Given the description of an element on the screen output the (x, y) to click on. 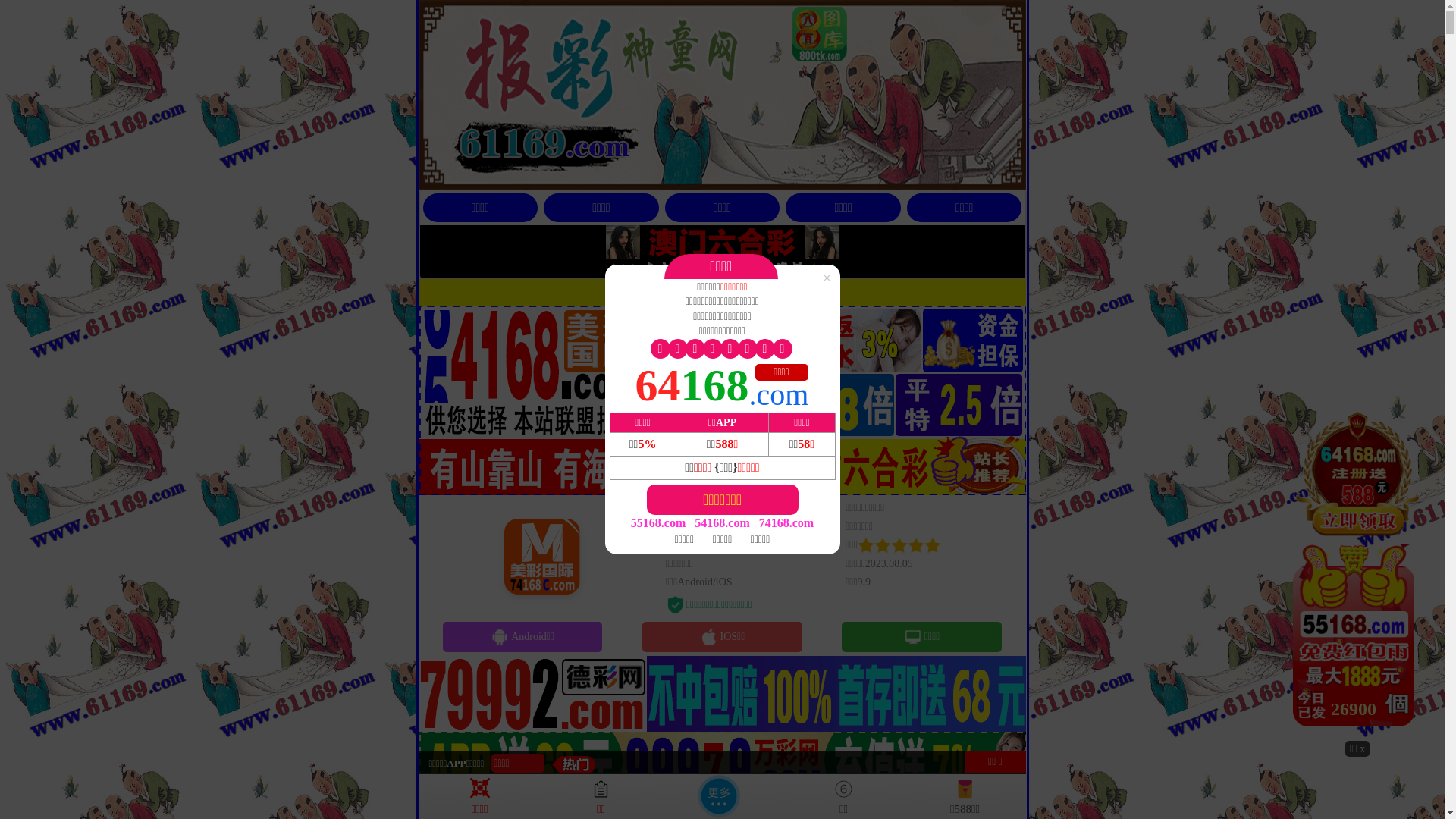
27102 Element type: text (1356, 573)
